Given the description of an element on the screen output the (x, y) to click on. 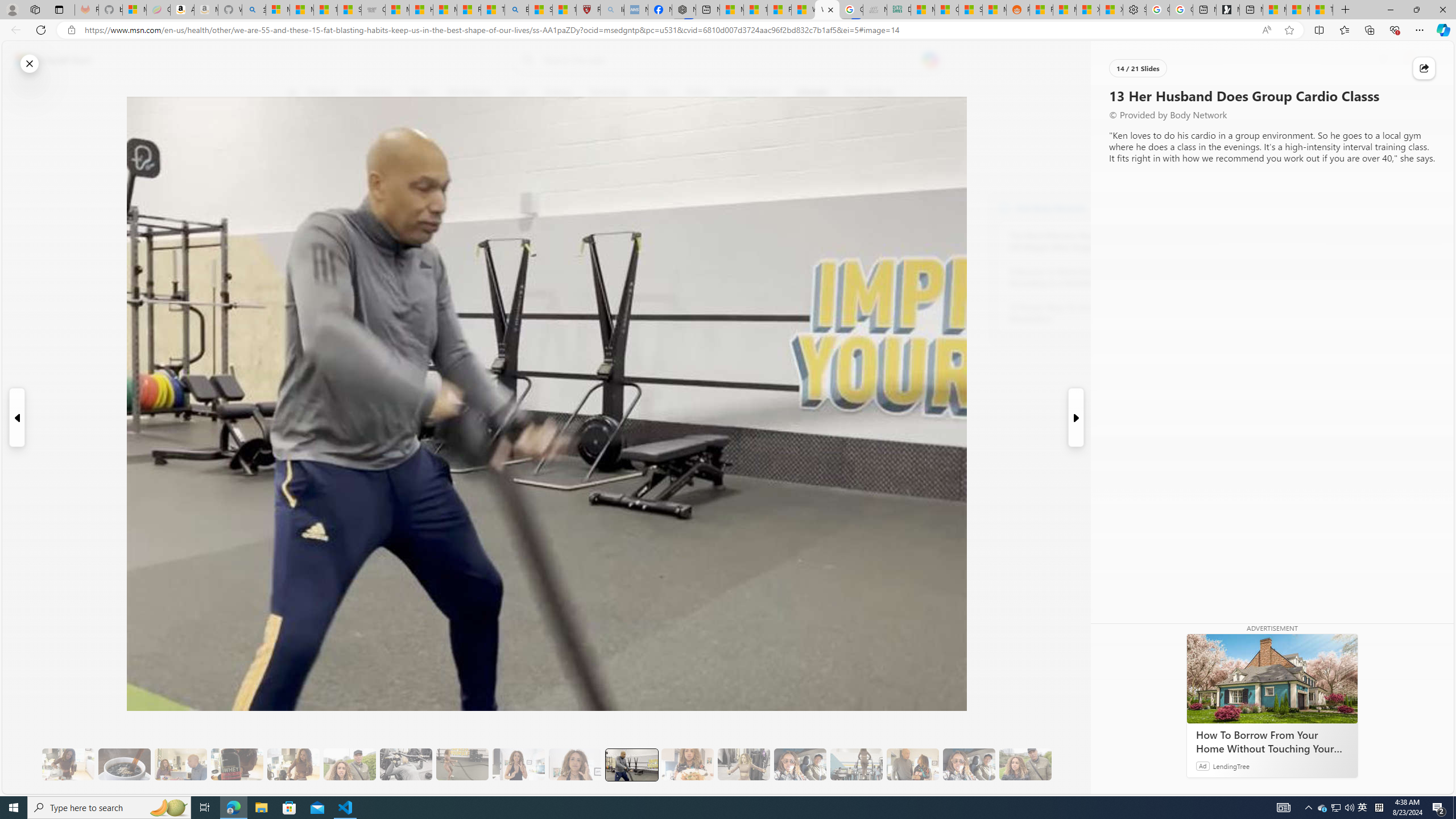
7 They Don't Skip Meals (293, 764)
5 She Eats Less Than Her Husband (180, 764)
16 The Couple's Program Helps with Accountability (800, 764)
19 It Also Simplifies Thiings (968, 764)
10 Then, They Do HIIT Cardio (462, 764)
